Given the description of an element on the screen output the (x, y) to click on. 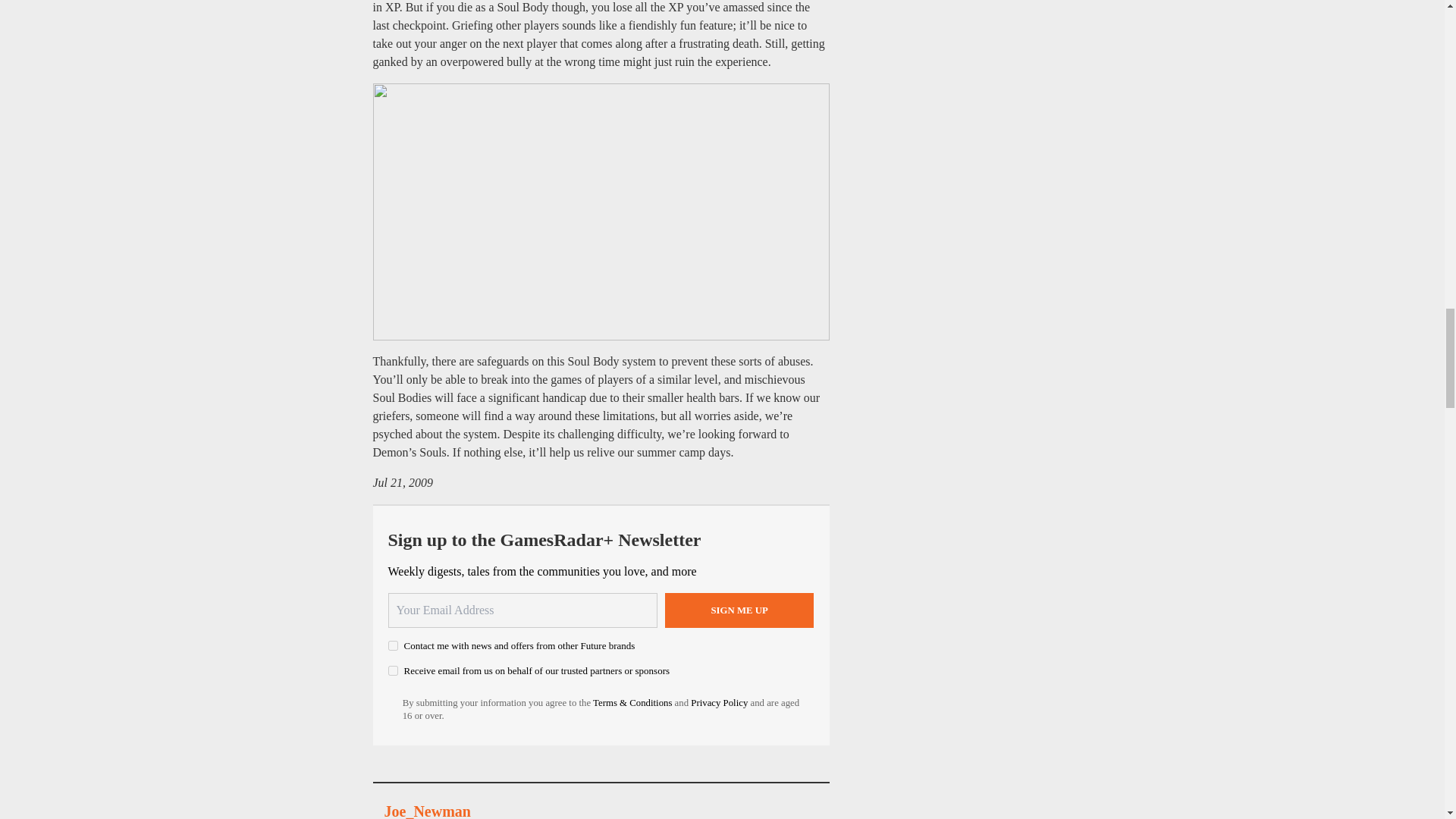
Sign me up (739, 610)
on (392, 645)
on (392, 670)
